Given the description of an element on the screen output the (x, y) to click on. 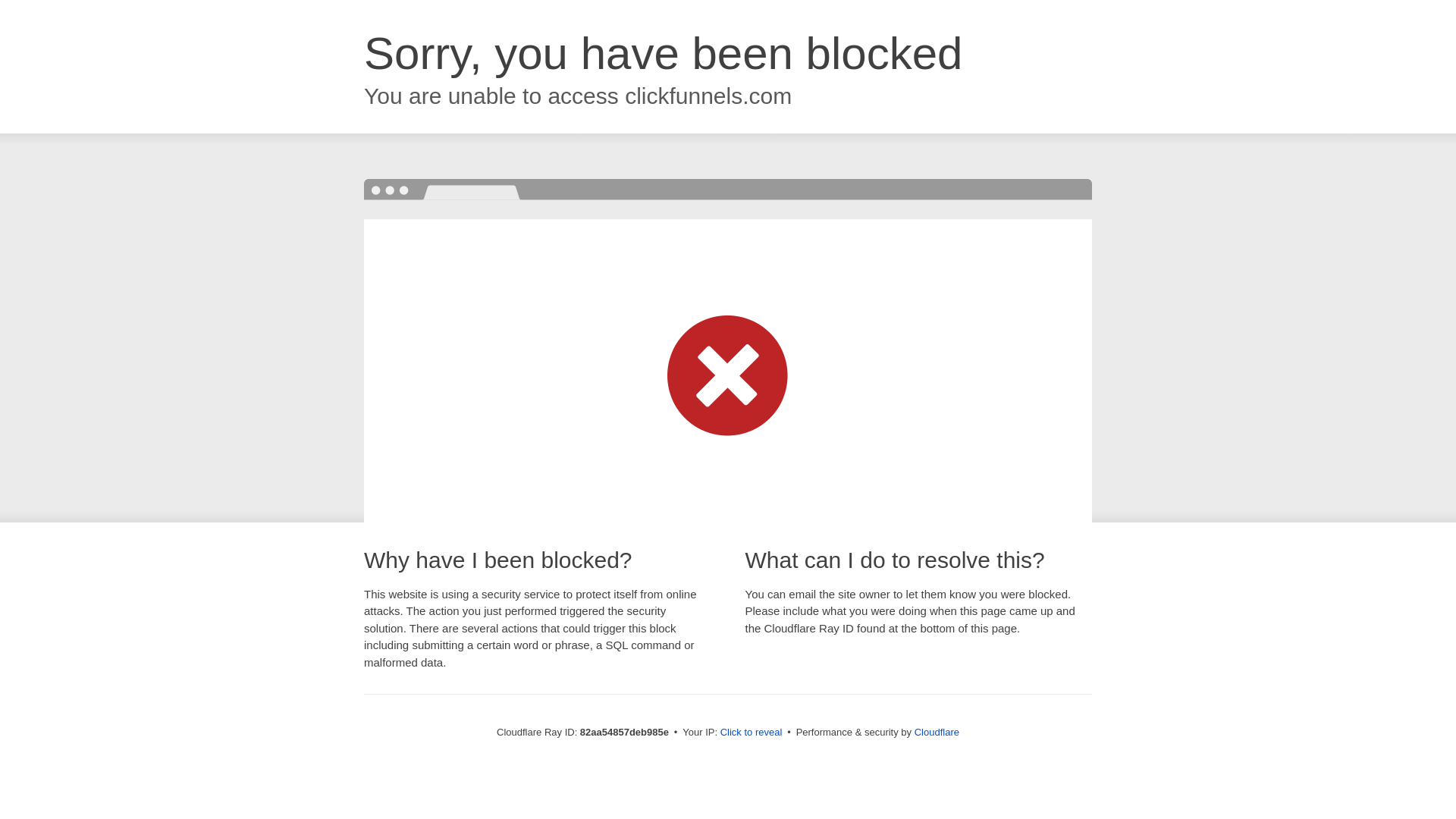
Click to reveal Element type: text (751, 732)
Cloudflare Element type: text (936, 731)
